Given the description of an element on the screen output the (x, y) to click on. 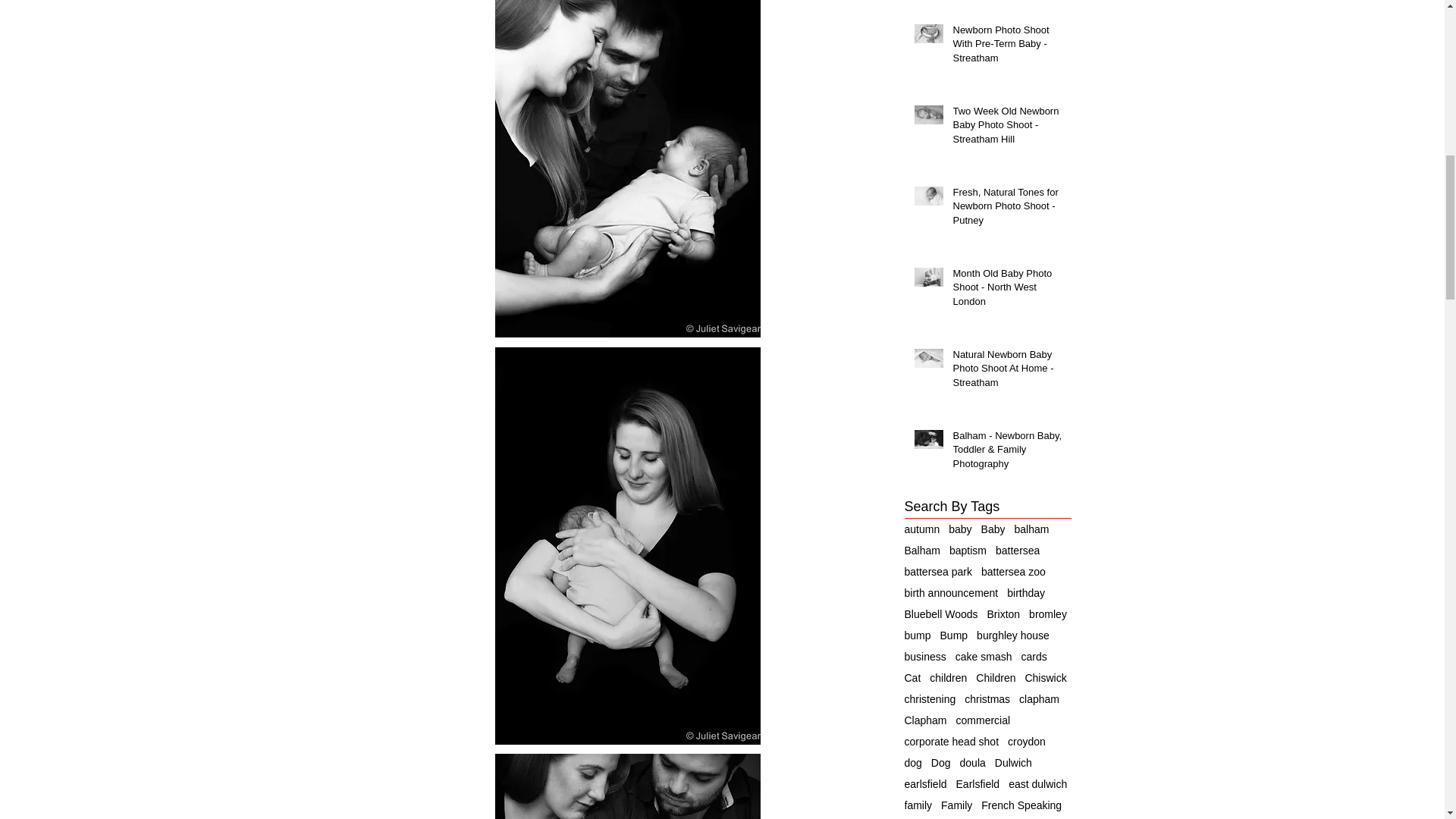
Two Week Old Newborn Baby Photo Shoot - Streatham Hill (1006, 128)
Fresh, Natural Tones for Newborn Photo Shoot - Putney (1006, 209)
Newborn Photo Shoot With Pre-Term Baby - Streatham (1006, 47)
